Given the description of an element on the screen output the (x, y) to click on. 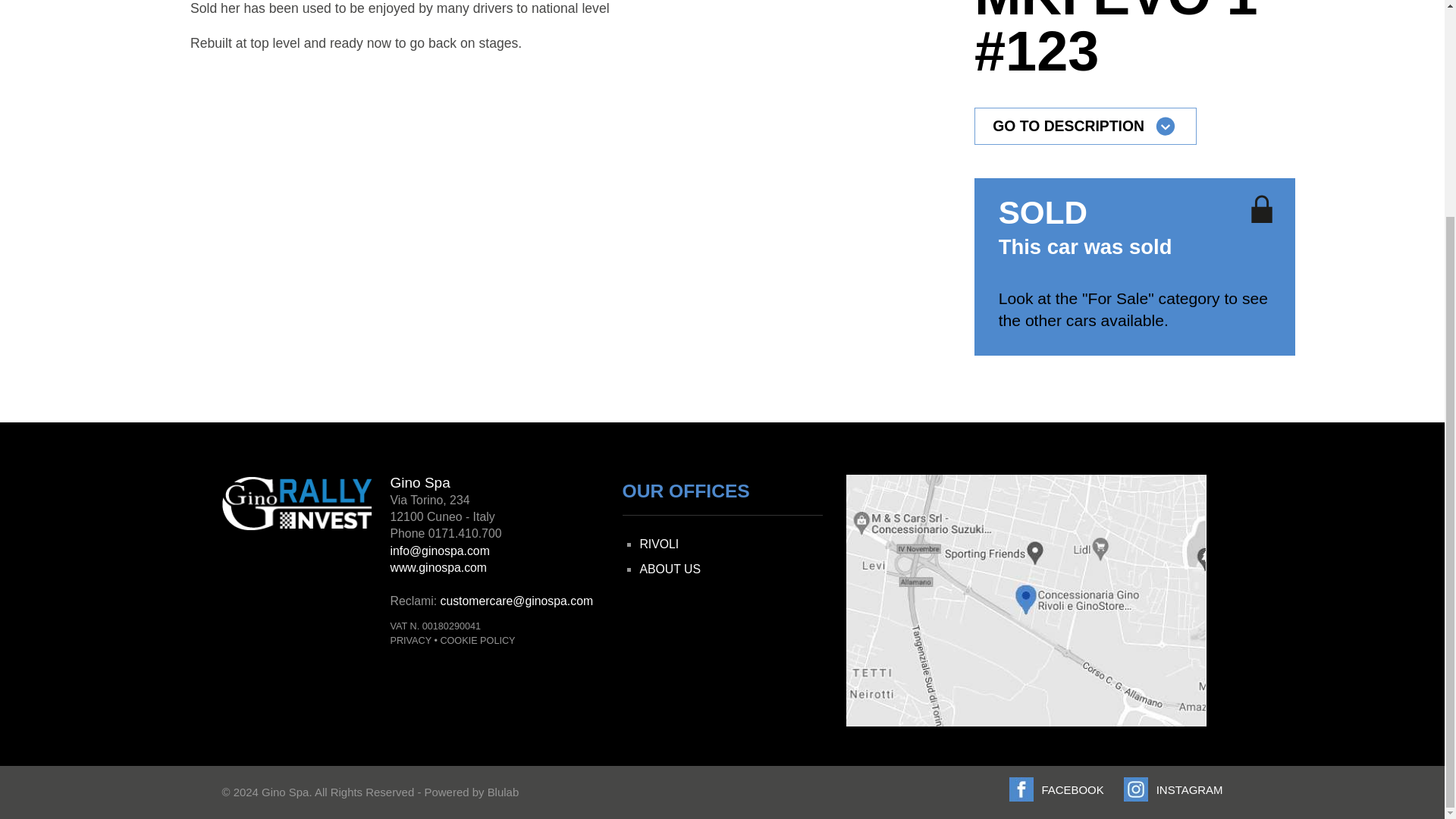
ABOUT US (669, 568)
INSTAGRAM (1173, 789)
PRIVACY (410, 640)
GO TO DESCRIPTION (1085, 125)
FACEBOOK (1056, 789)
www.ginospa.com (438, 567)
RIVOLI (658, 543)
GO TO DESCRIPTION (1085, 125)
COOKIE POLICY (477, 640)
